Given the description of an element on the screen output the (x, y) to click on. 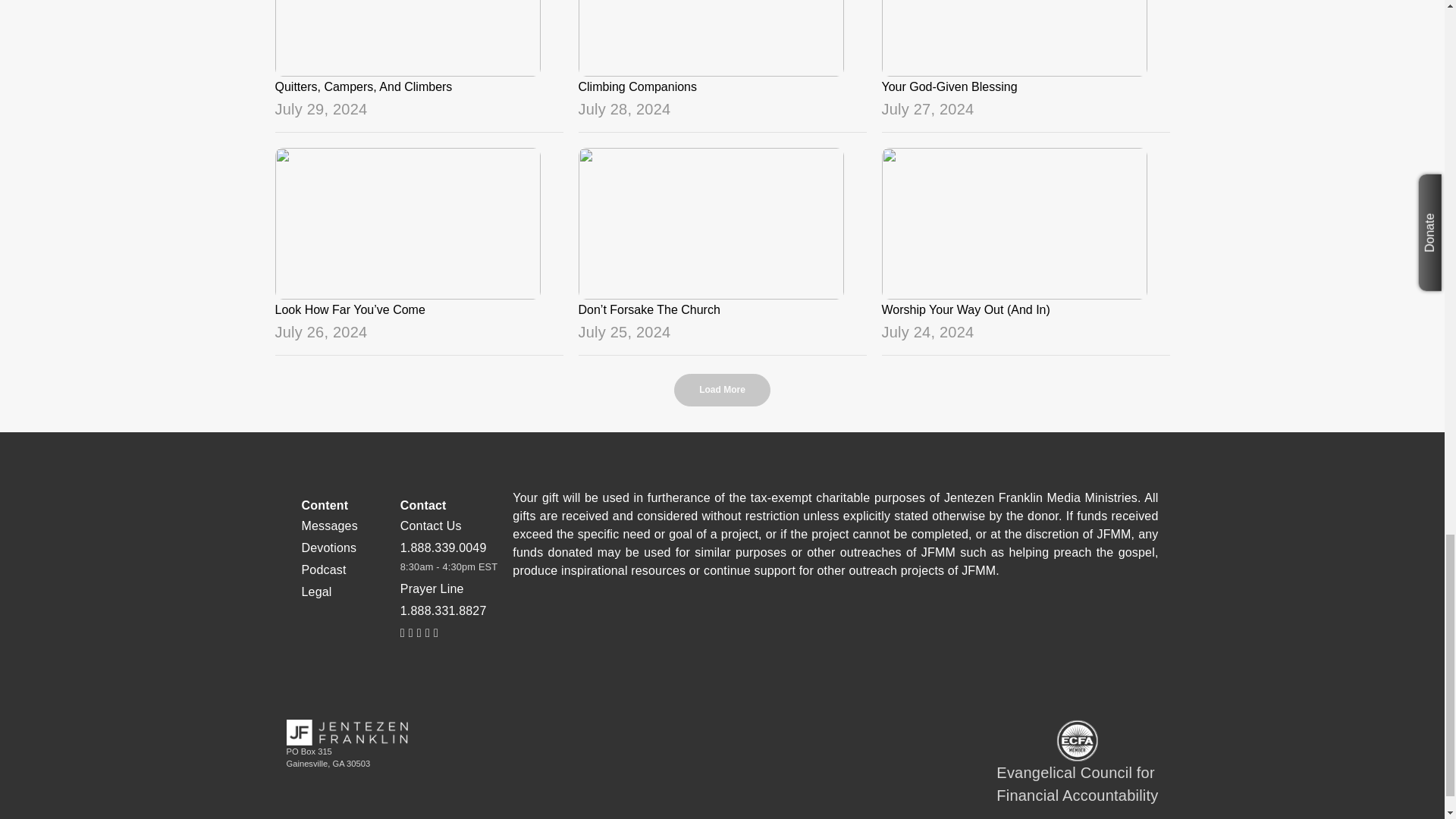
Climbing Companions (722, 60)
Jentezen Franklin (346, 732)
Quitters, Campers, and Climbers (418, 60)
Your God-Given Blessing (1024, 60)
